Given the description of an element on the screen output the (x, y) to click on. 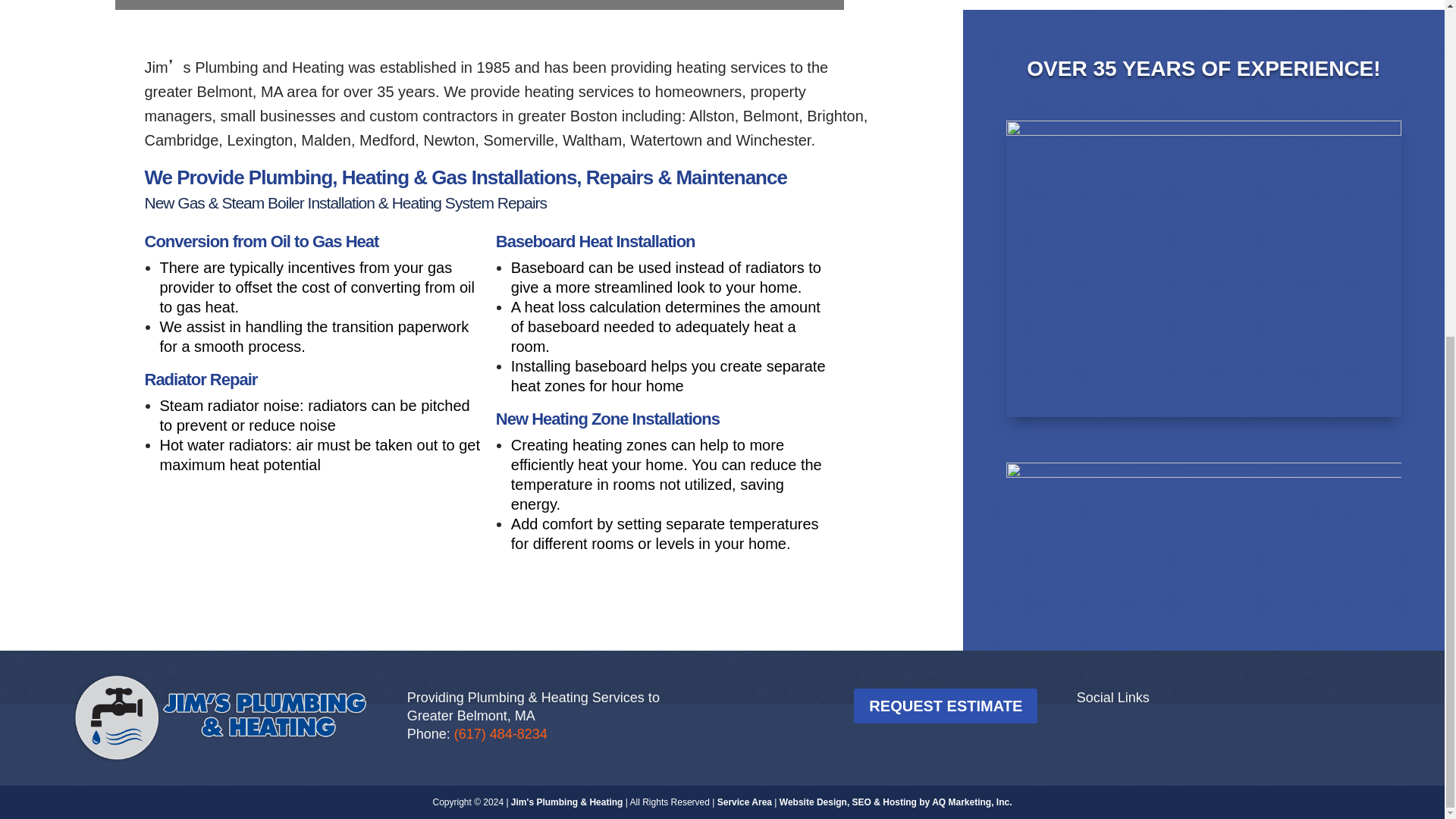
REQUEST ESTIMATE (944, 705)
AL-awards-2019 (1203, 518)
logo-jims-plumbing-heating (219, 717)
jims-plumbing-heating-services-photo-1 (1203, 131)
Service Area (744, 801)
